Given the description of an element on the screen output the (x, y) to click on. 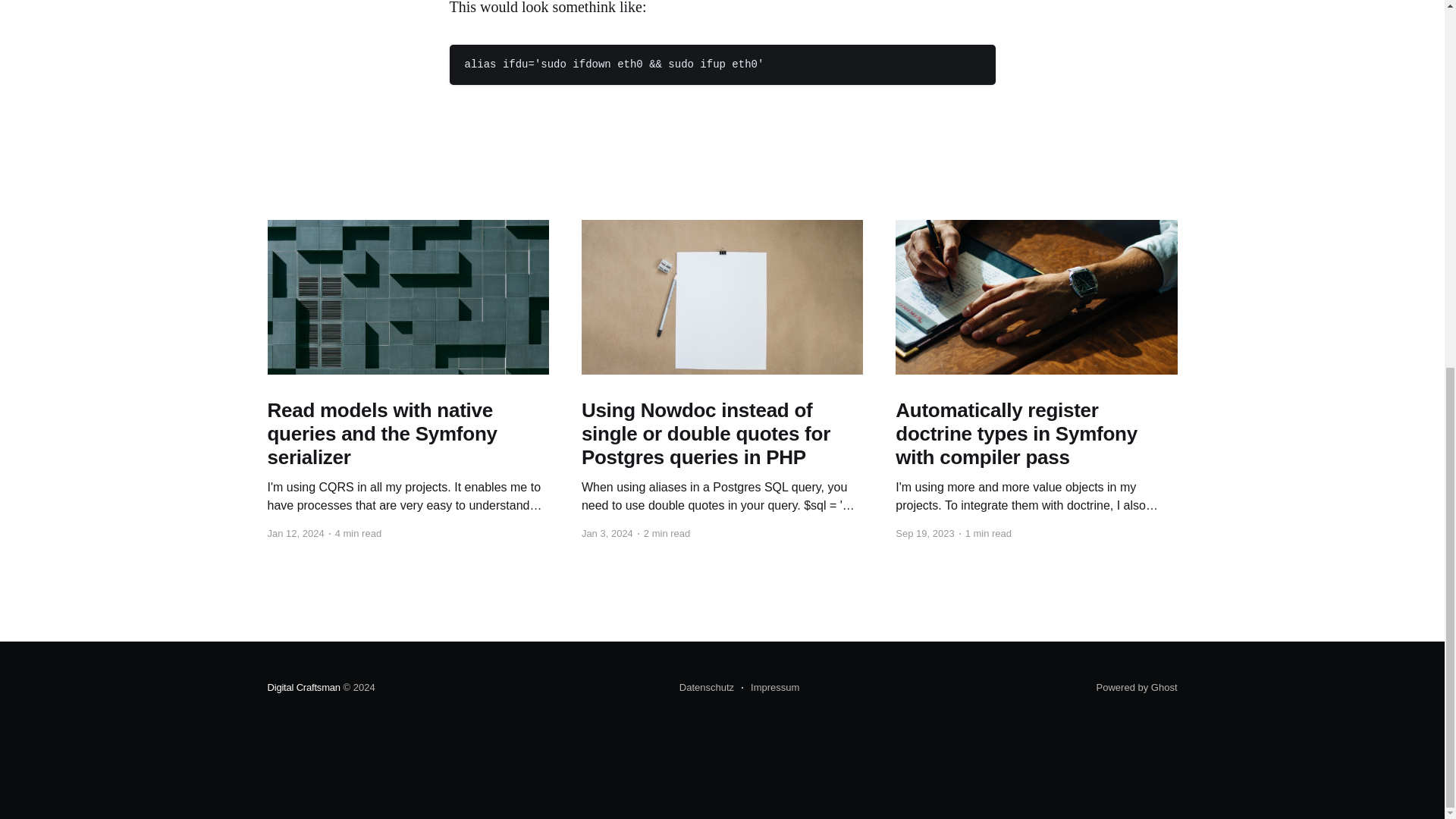
Impressum (770, 687)
Digital Craftsman (302, 686)
Powered by Ghost (1136, 686)
Datenschutz (706, 687)
